Given the description of an element on the screen output the (x, y) to click on. 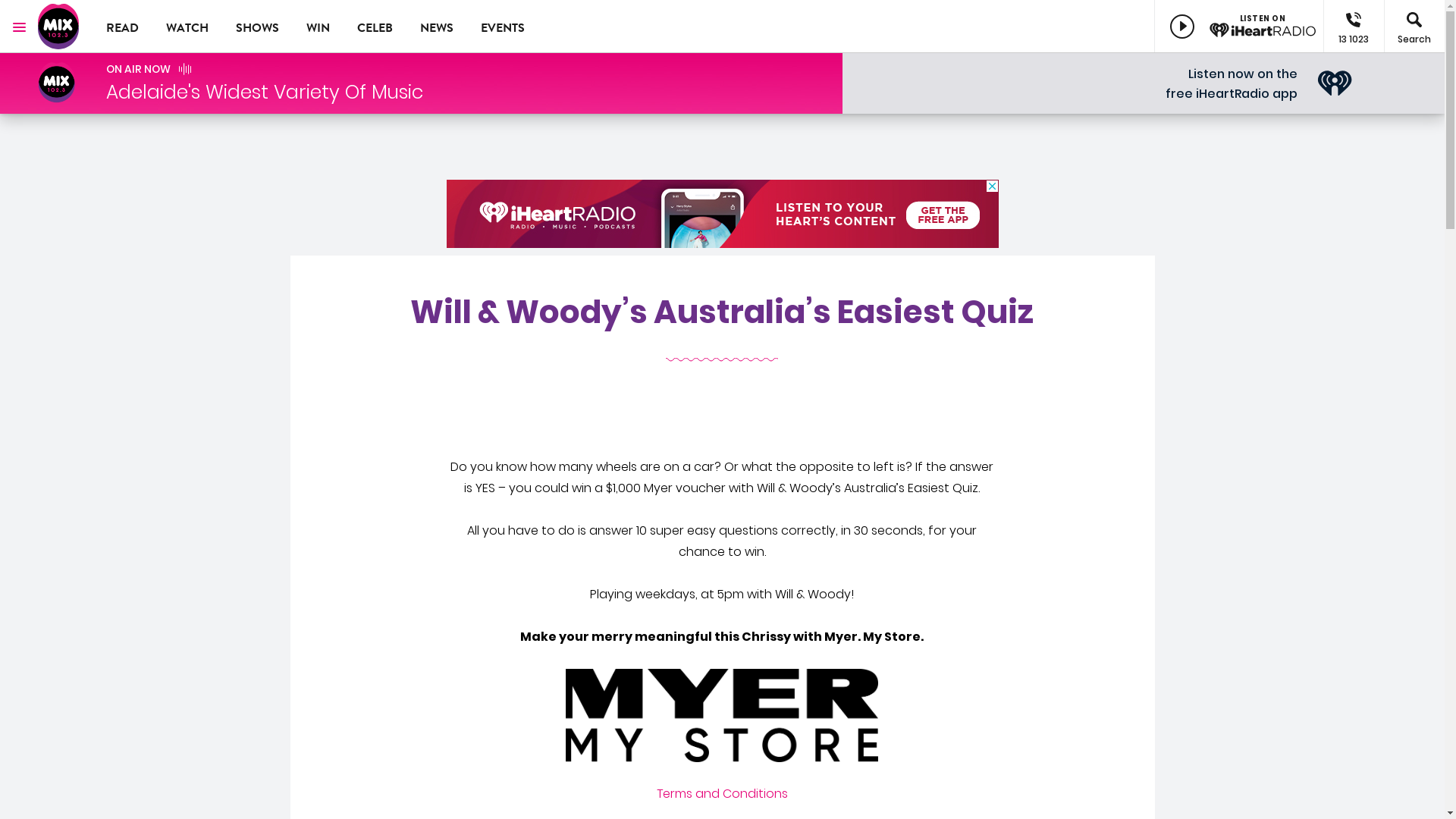
Terms and Conditions Element type: text (721, 793)
13 1023 Element type: text (1353, 26)
ON AIR NOW Element type: text (138, 68)
EVENTS Element type: text (502, 26)
Menu Element type: text (18, 26)
3rd party ad content Element type: hover (721, 213)
WATCH Element type: text (187, 26)
WIN Element type: text (317, 26)
iHeart Element type: text (1334, 82)
Adelaide's Widest Variety Of Music Element type: text (264, 92)
LISTEN ON Element type: text (1238, 26)
SHOWS Element type: text (257, 26)
NEWS Element type: text (436, 26)
Listen now on the
free iHeartRadio app Element type: text (1231, 83)
READ Element type: text (122, 26)
CELEB Element type: text (374, 26)
Search Element type: text (1413, 26)
